Given the description of an element on the screen output the (x, y) to click on. 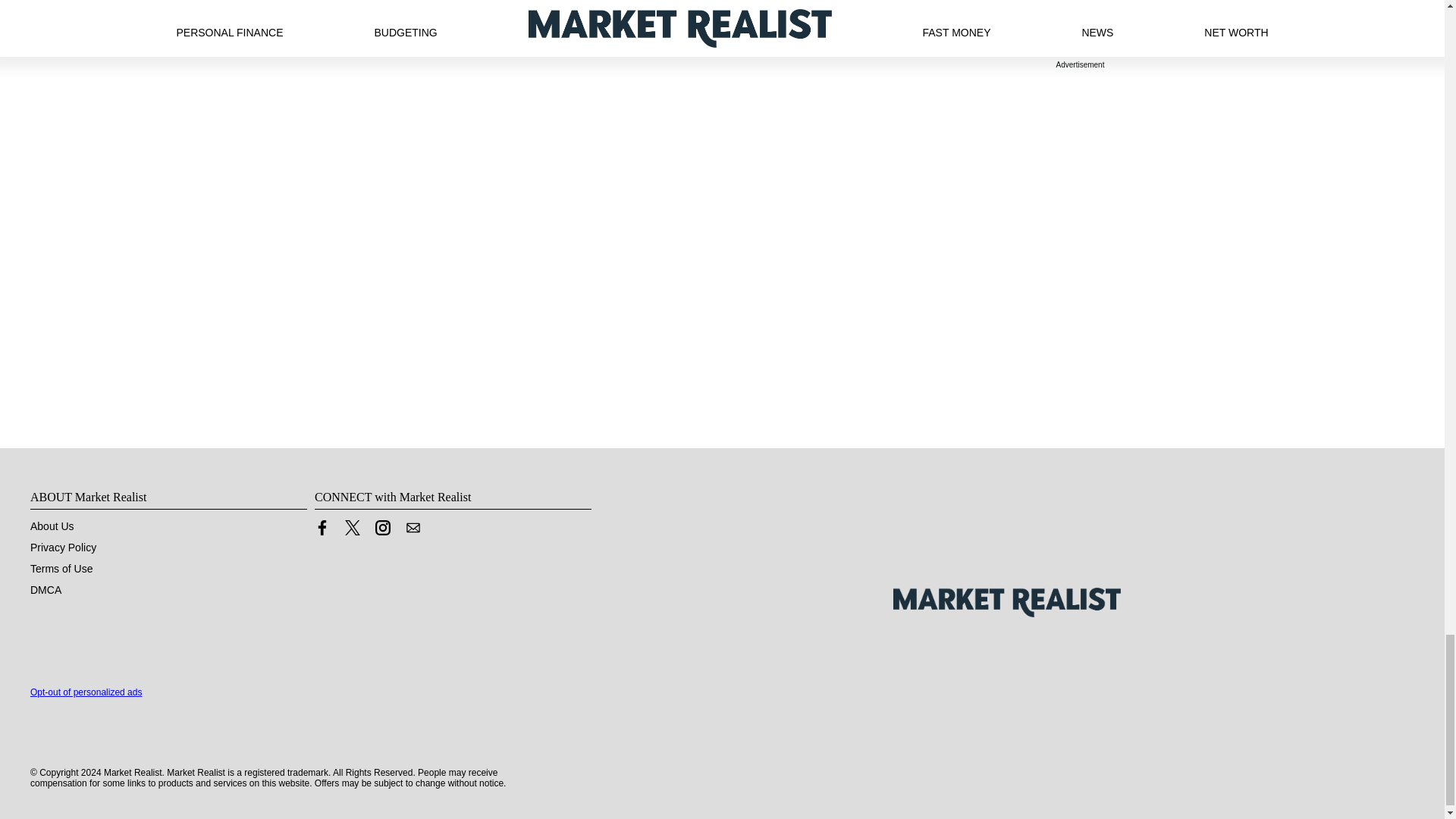
Contact us by Email (413, 531)
Link to X (352, 527)
DMCA (45, 589)
Privacy Policy (63, 547)
Link to X (352, 531)
Terms of Use (61, 568)
Privacy Policy (63, 547)
Link to Facebook (322, 527)
Link to Instagram (382, 527)
DMCA (45, 589)
